Given the description of an element on the screen output the (x, y) to click on. 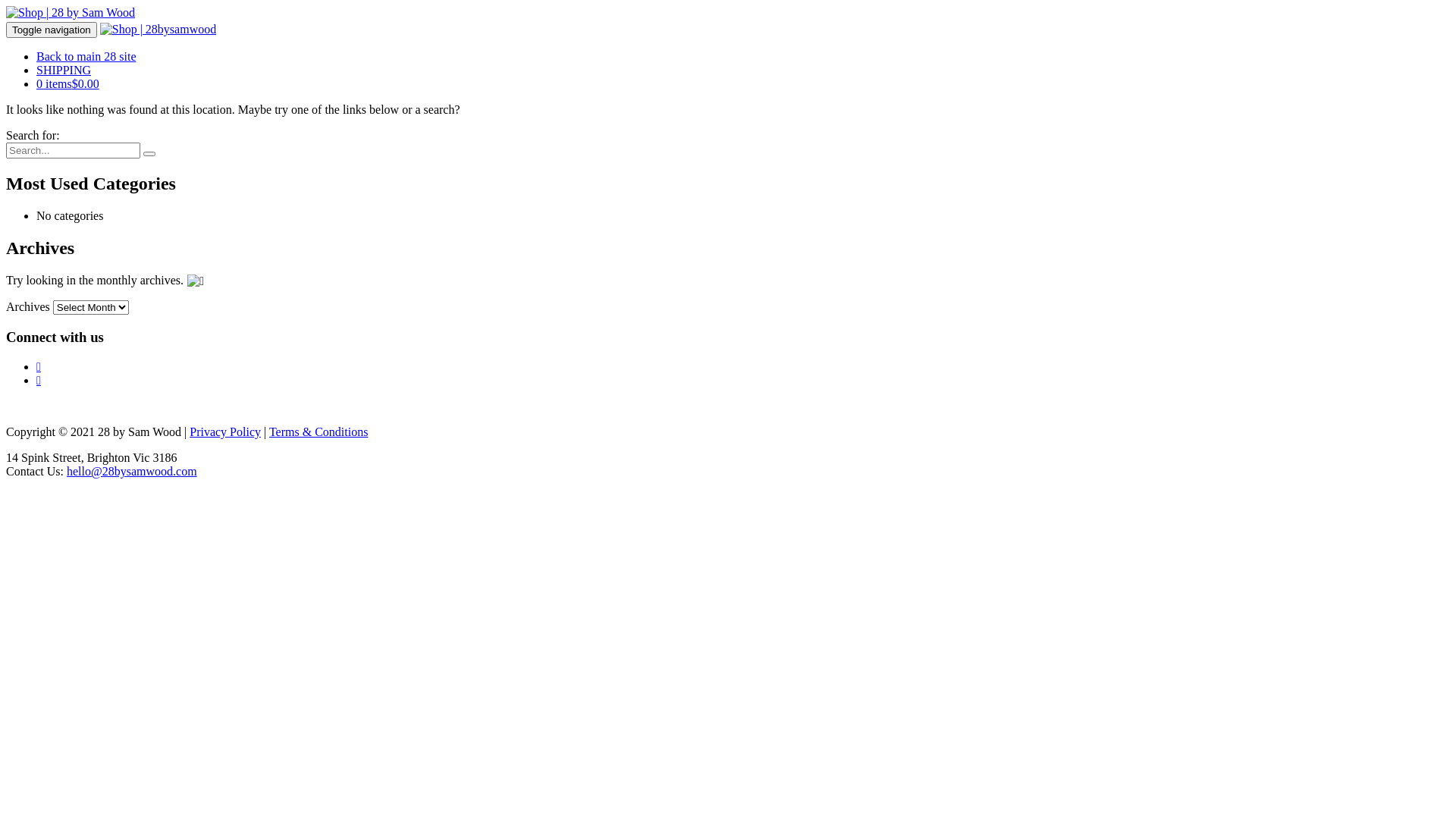
0 items$0.00 Element type: text (67, 83)
hello@28bysamwood.com Element type: text (131, 470)
Privacy Policy Element type: text (224, 431)
Toggle navigation Element type: text (51, 29)
Back to main 28 site Element type: text (86, 56)
SHIPPING Element type: text (63, 69)
Terms & Conditions Element type: text (318, 431)
